Given the description of an element on the screen output the (x, y) to click on. 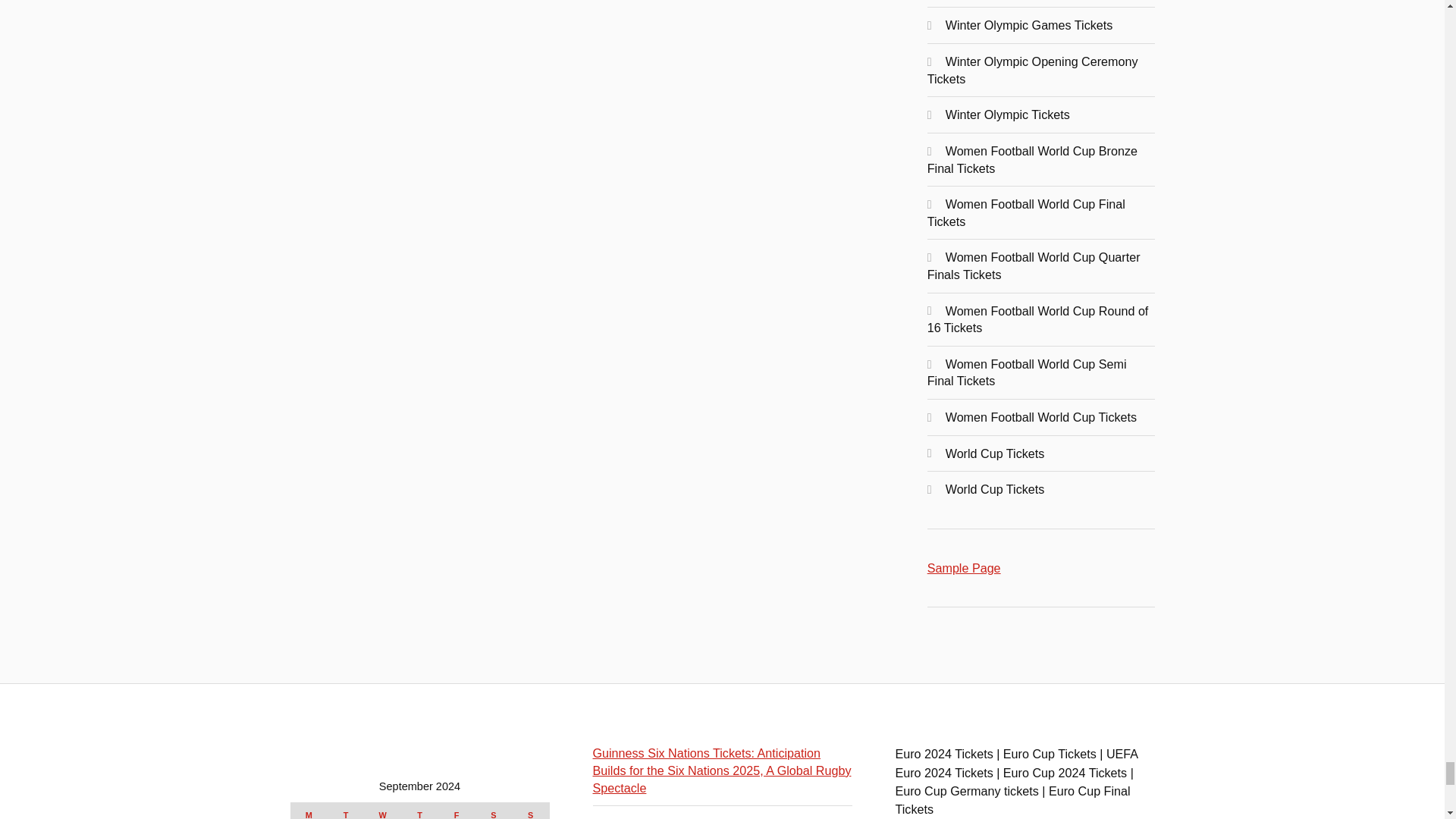
Wednesday (382, 811)
Sunday (530, 811)
Friday (457, 811)
Tuesday (346, 811)
Thursday (419, 811)
Saturday (494, 811)
Monday (308, 811)
